Given the description of an element on the screen output the (x, y) to click on. 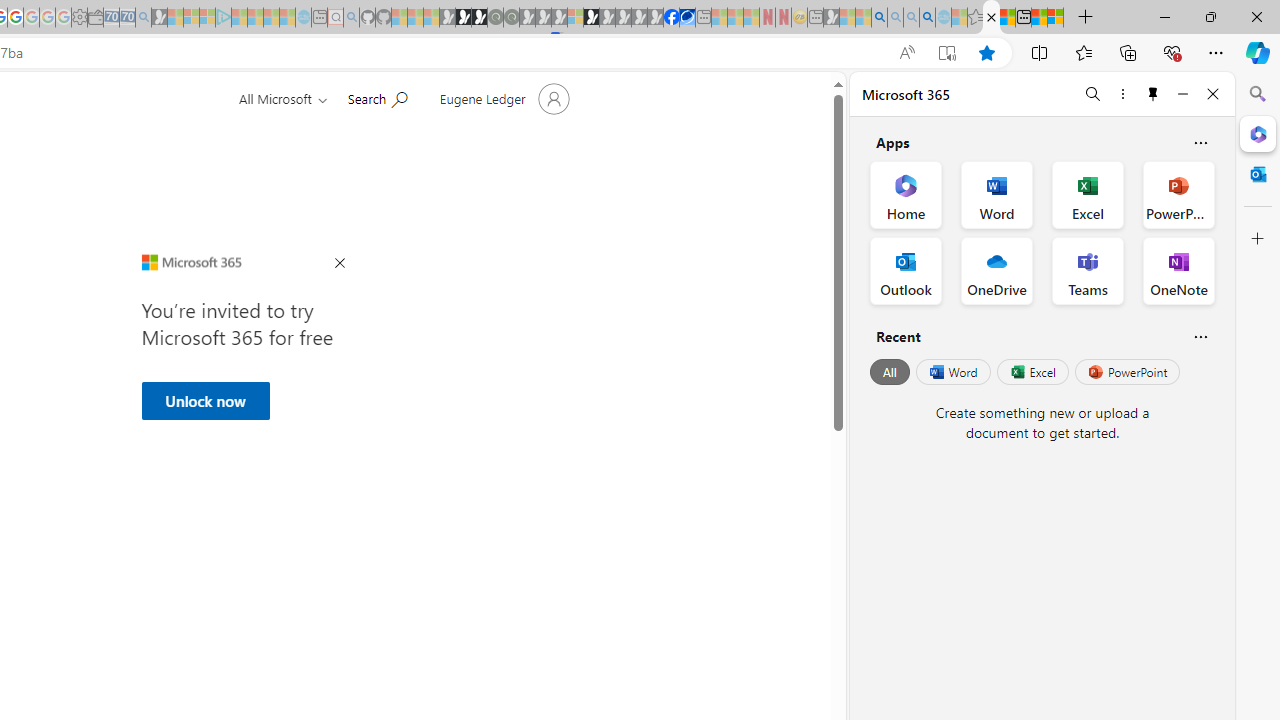
Word (952, 372)
Future Focus Report 2024 - Sleeping (511, 17)
Excel Office App (1087, 194)
